Given the description of an element on the screen output the (x, y) to click on. 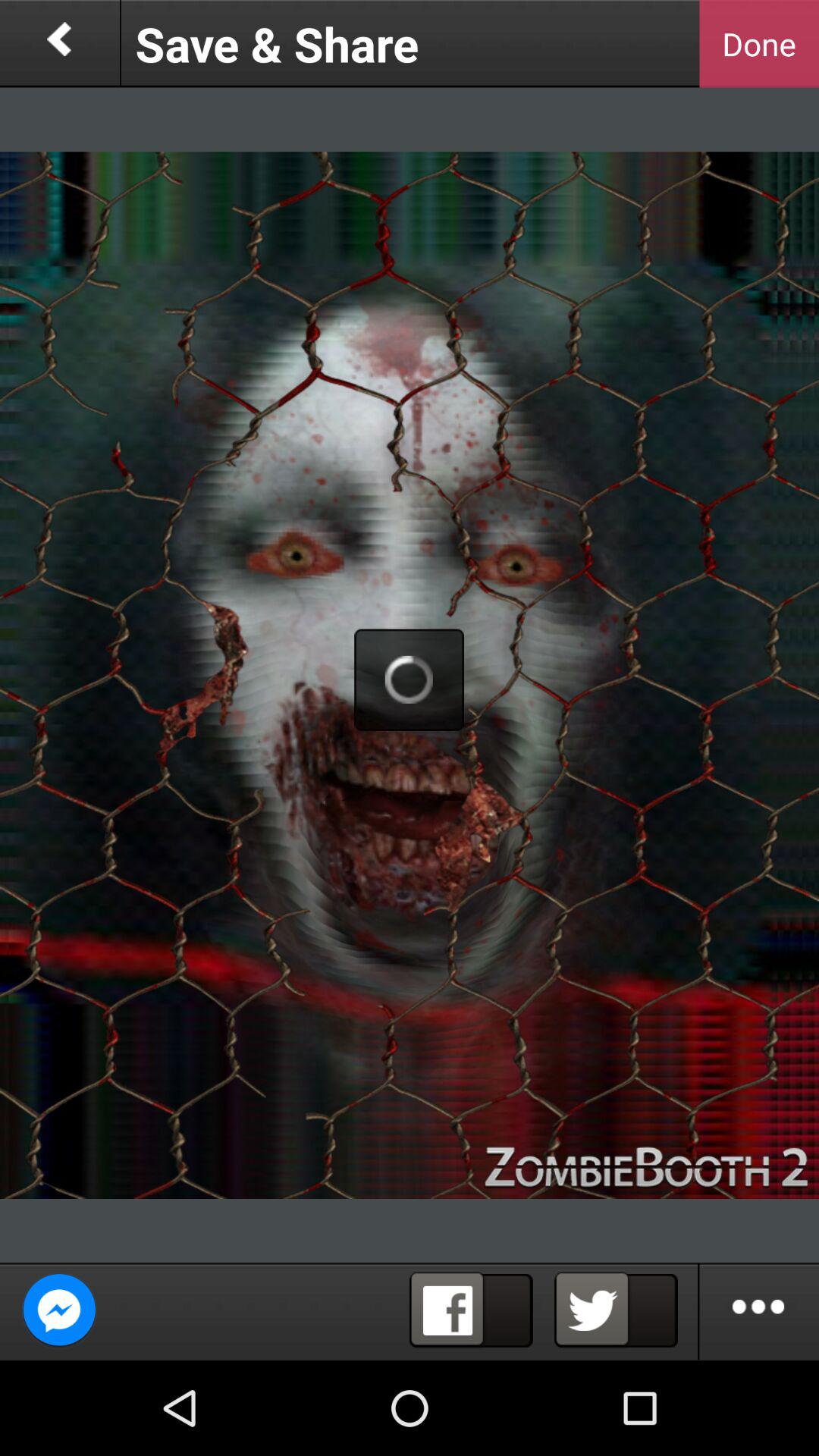
go back (59, 43)
